Given the description of an element on the screen output the (x, y) to click on. 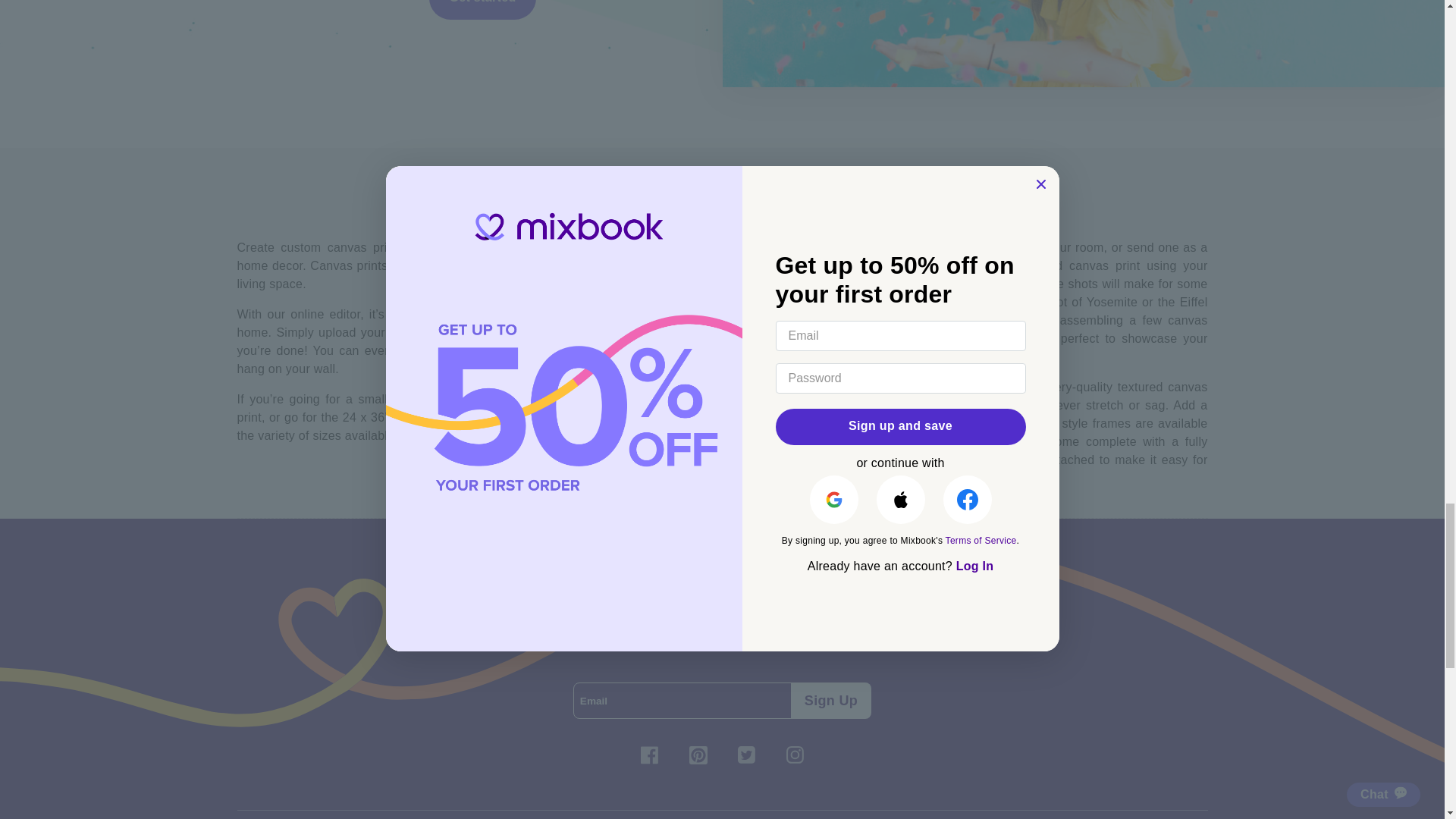
Follow Mixbook on Twitter (746, 755)
Get started (482, 9)
Sign Up (830, 700)
Follow Mixbook on Instagram (794, 755)
Follow Mixbook on Pinterest (697, 755)
Follow Mixbook on Facebook (648, 755)
